Given the description of an element on the screen output the (x, y) to click on. 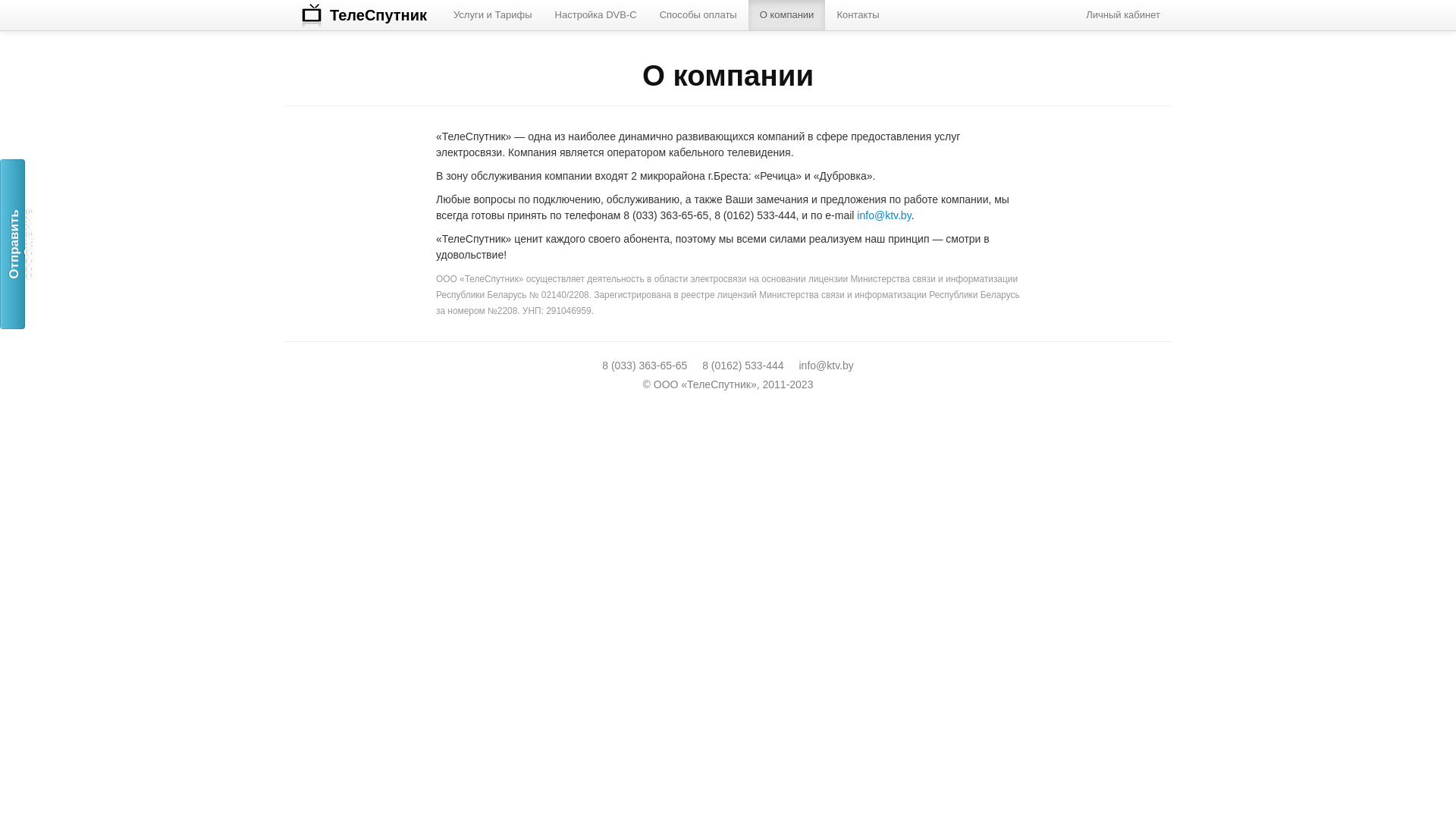
info@ktv.by Element type: text (883, 215)
info@ktv.by Element type: text (825, 365)
